Given the description of an element on the screen output the (x, y) to click on. 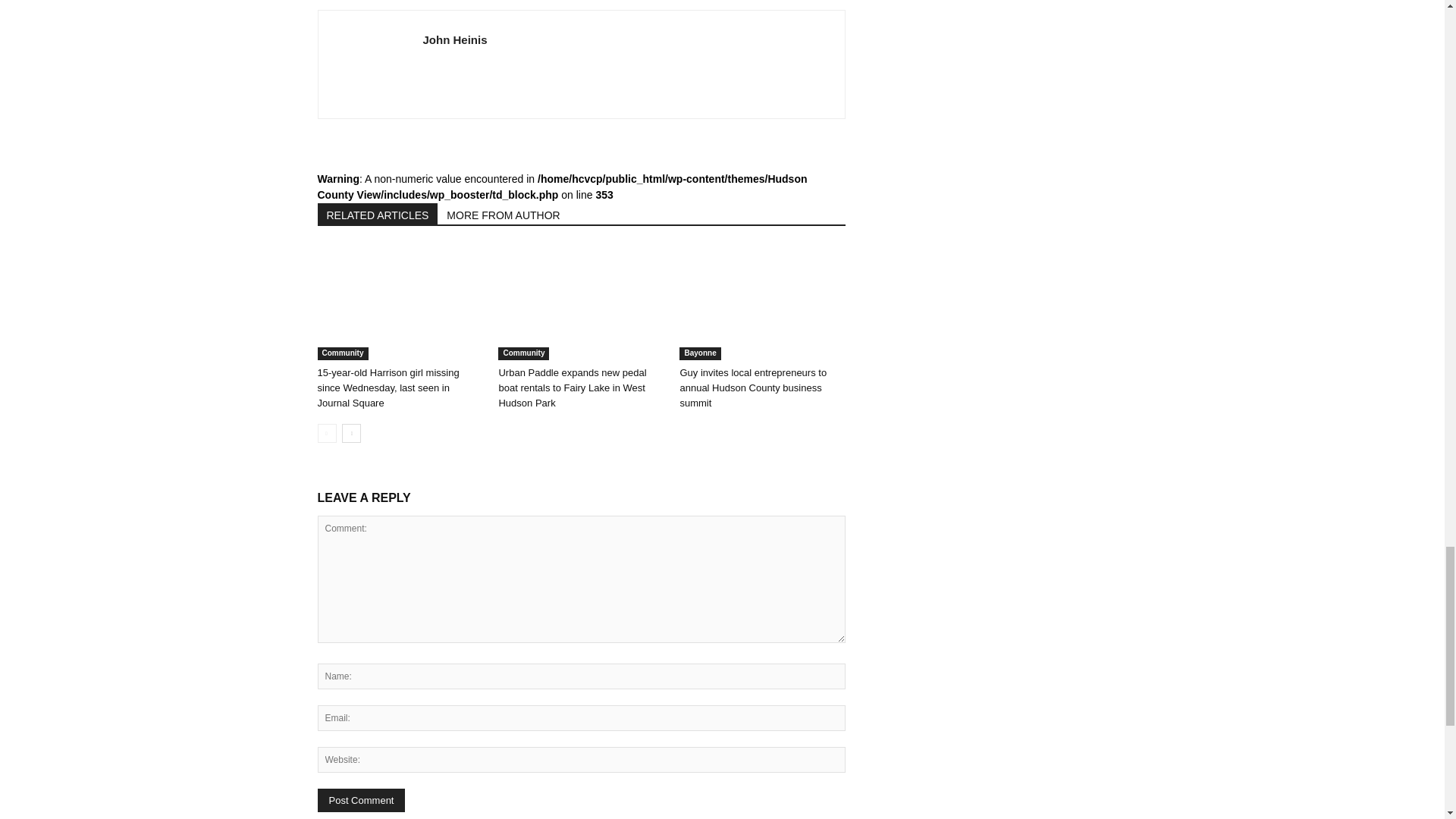
Post Comment (360, 800)
